Given the description of an element on the screen output the (x, y) to click on. 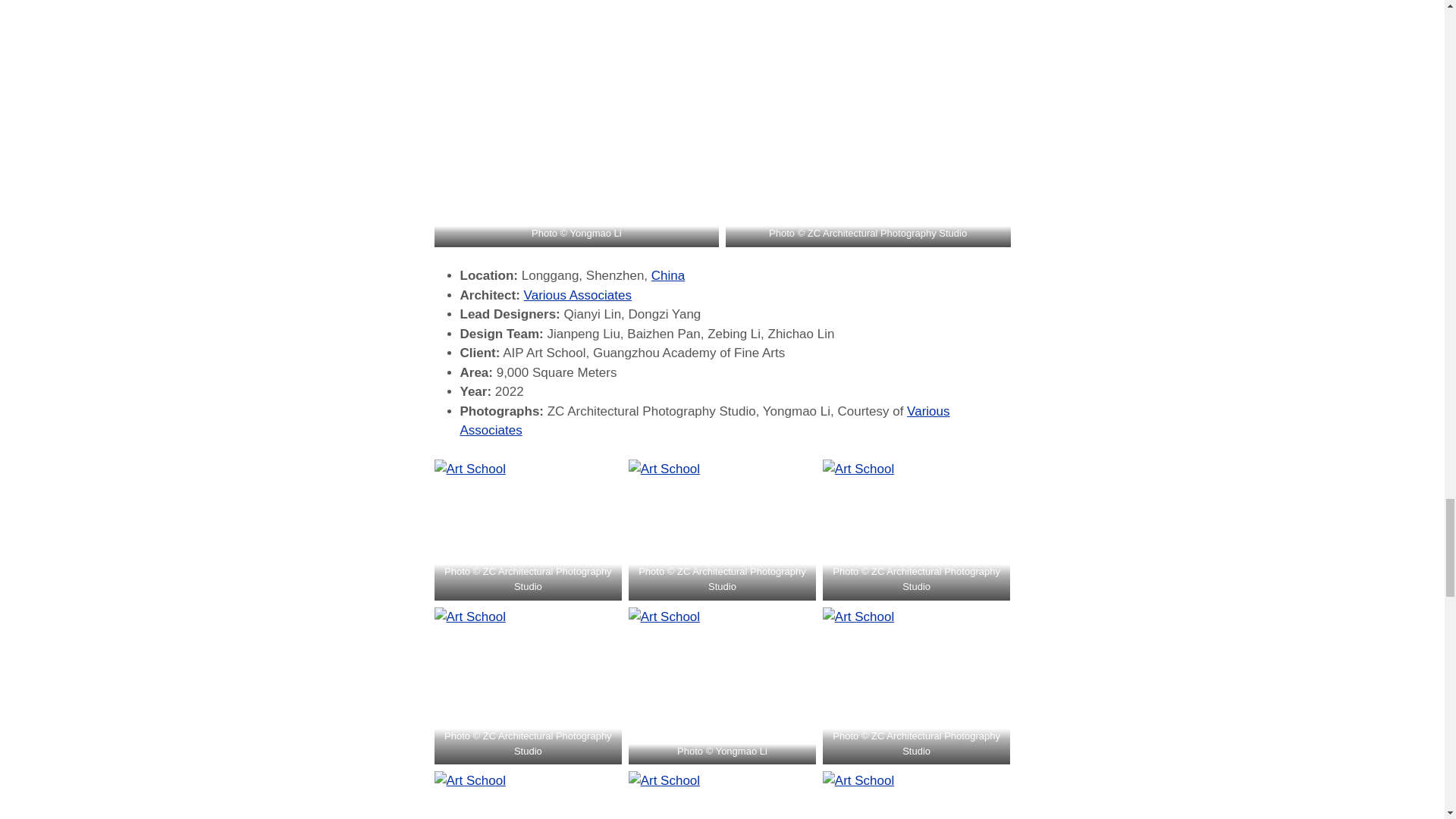
Various Associates (577, 295)
Various Associates (704, 421)
China (667, 275)
